Given the description of an element on the screen output the (x, y) to click on. 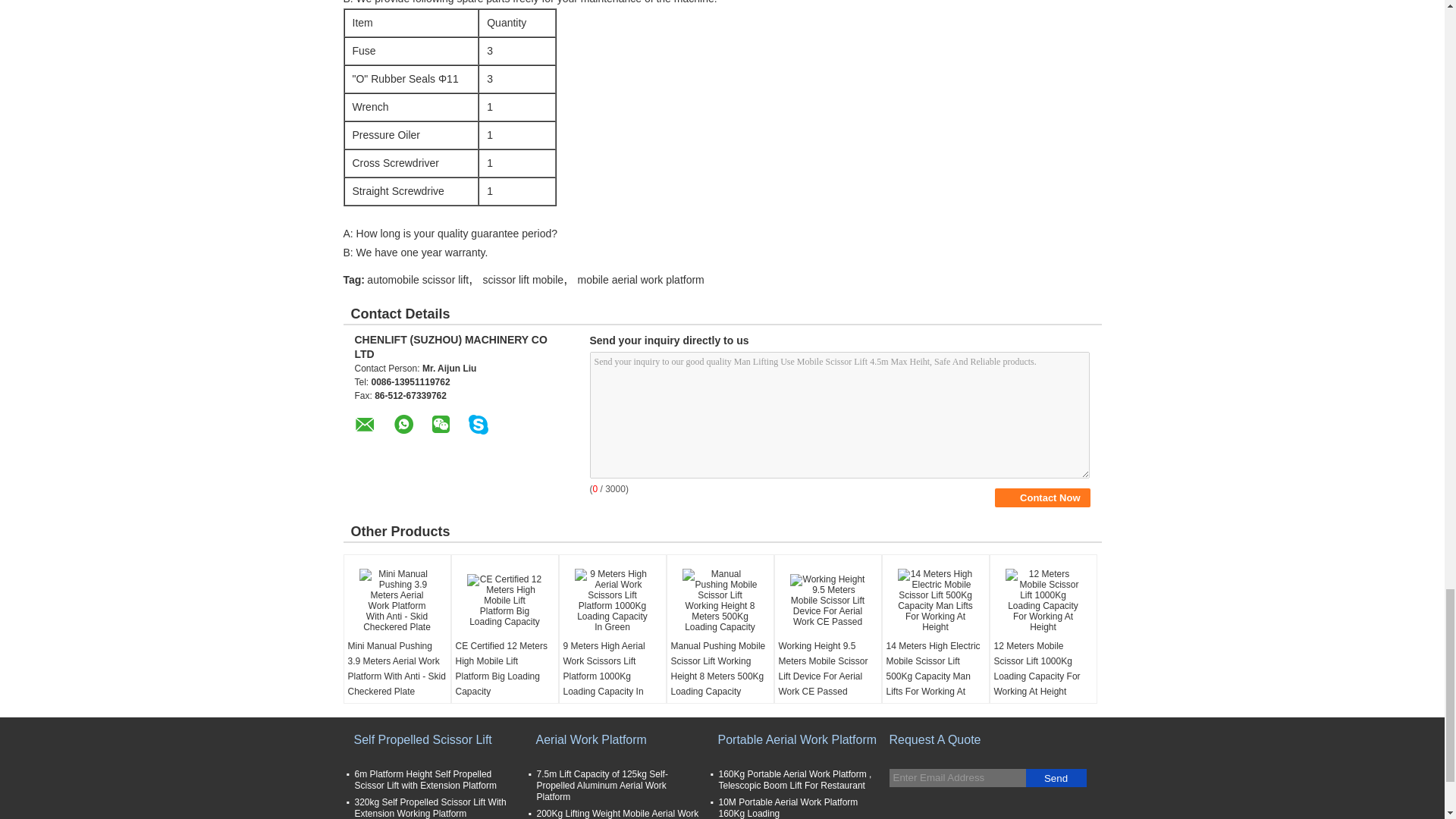
scissor lift mobile (523, 279)
automobile scissor lift (417, 279)
Contact Now (1041, 497)
mobile aerial work platform (641, 279)
